Given the description of an element on the screen output the (x, y) to click on. 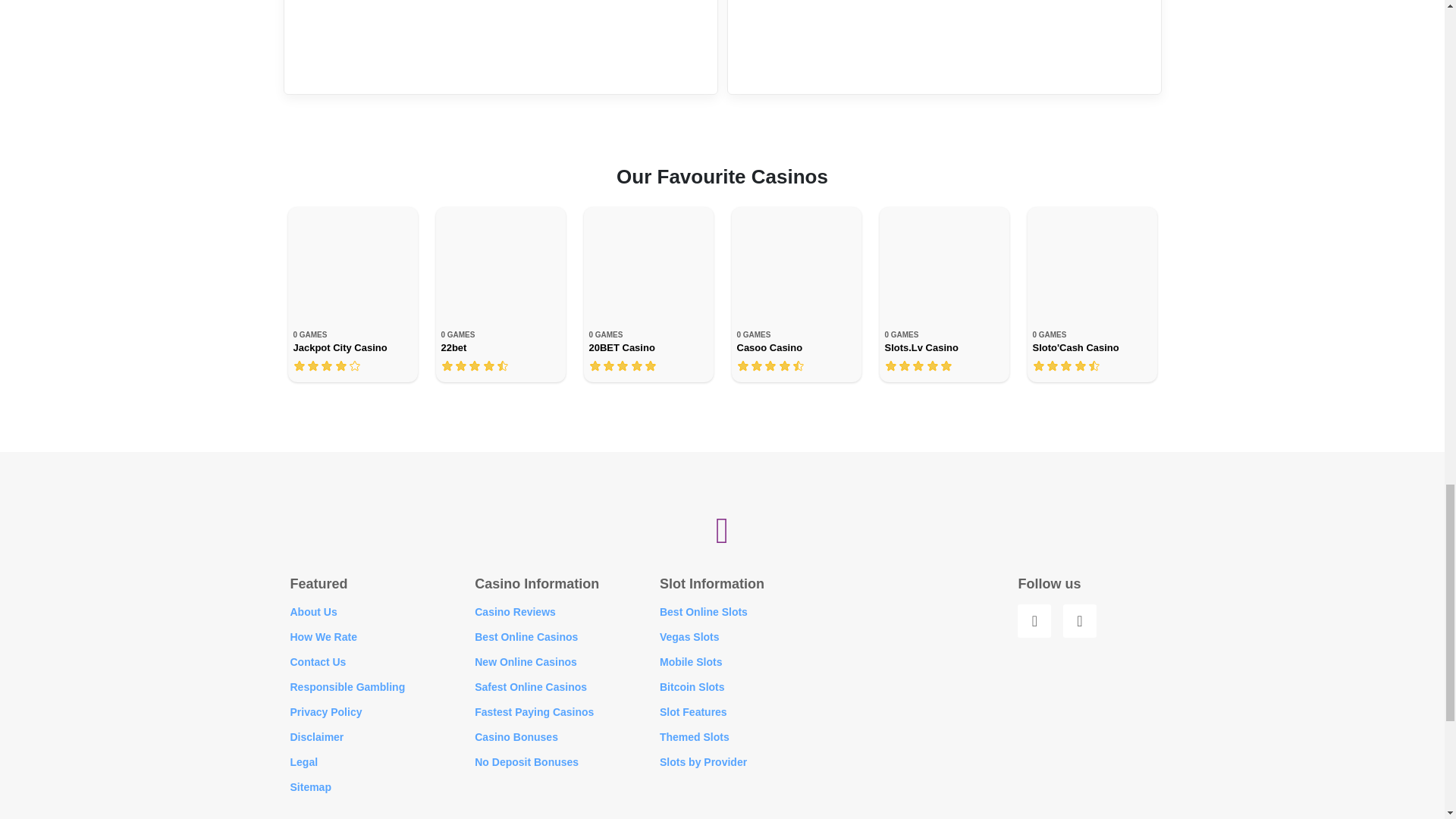
twitter (1079, 621)
About Us (312, 612)
Contact Us (317, 662)
Disclaimer (316, 736)
Responsible Gambling (346, 686)
Sitemap (309, 787)
How We Rate (322, 636)
facebook (1034, 621)
Legal (303, 761)
Privacy Policy (325, 711)
